Given the description of an element on the screen output the (x, y) to click on. 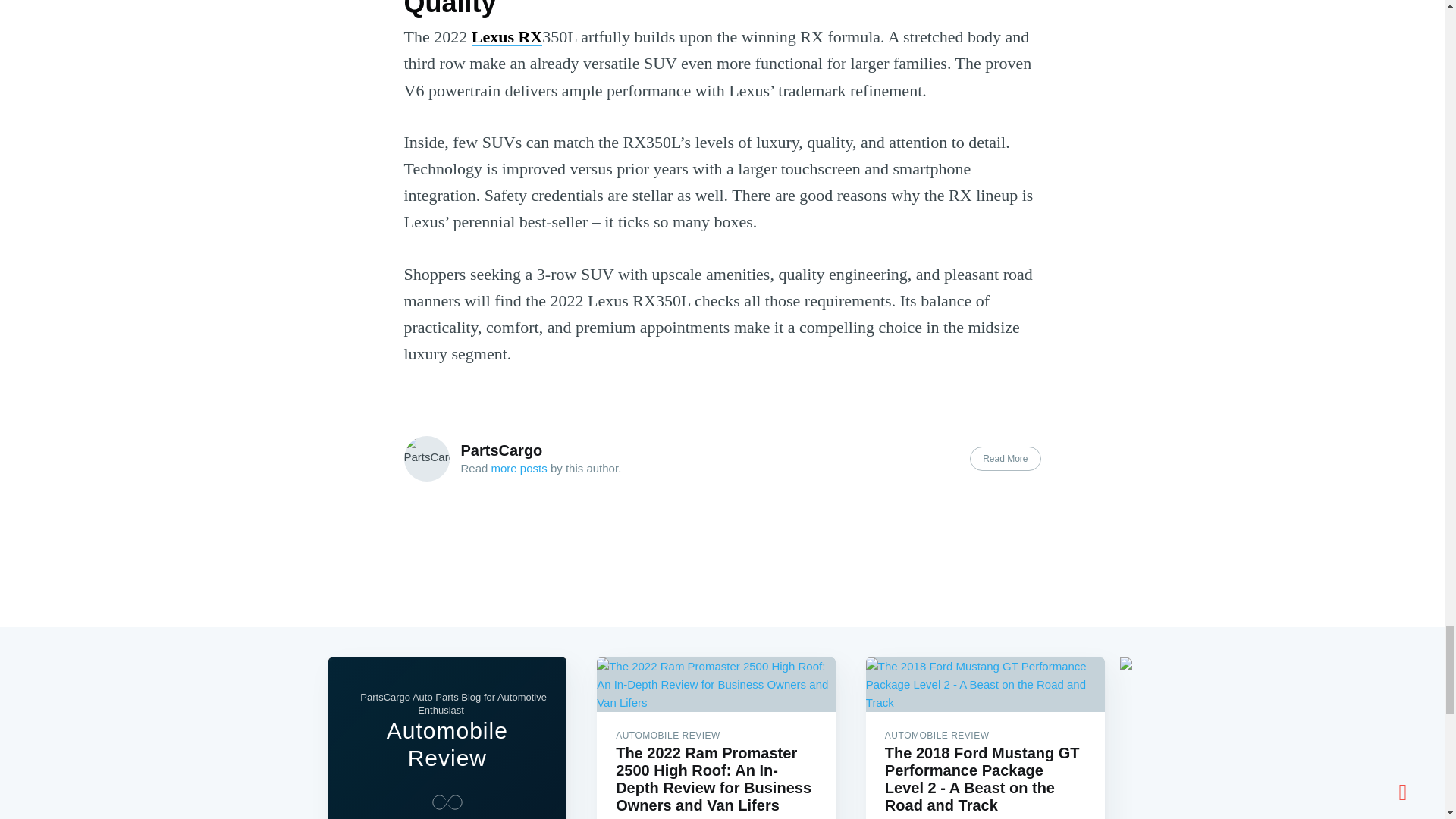
Read More (1005, 458)
more posts (519, 468)
PartsCargo (502, 450)
Automobile Review (447, 744)
Lexus RX (507, 36)
